Given the description of an element on the screen output the (x, y) to click on. 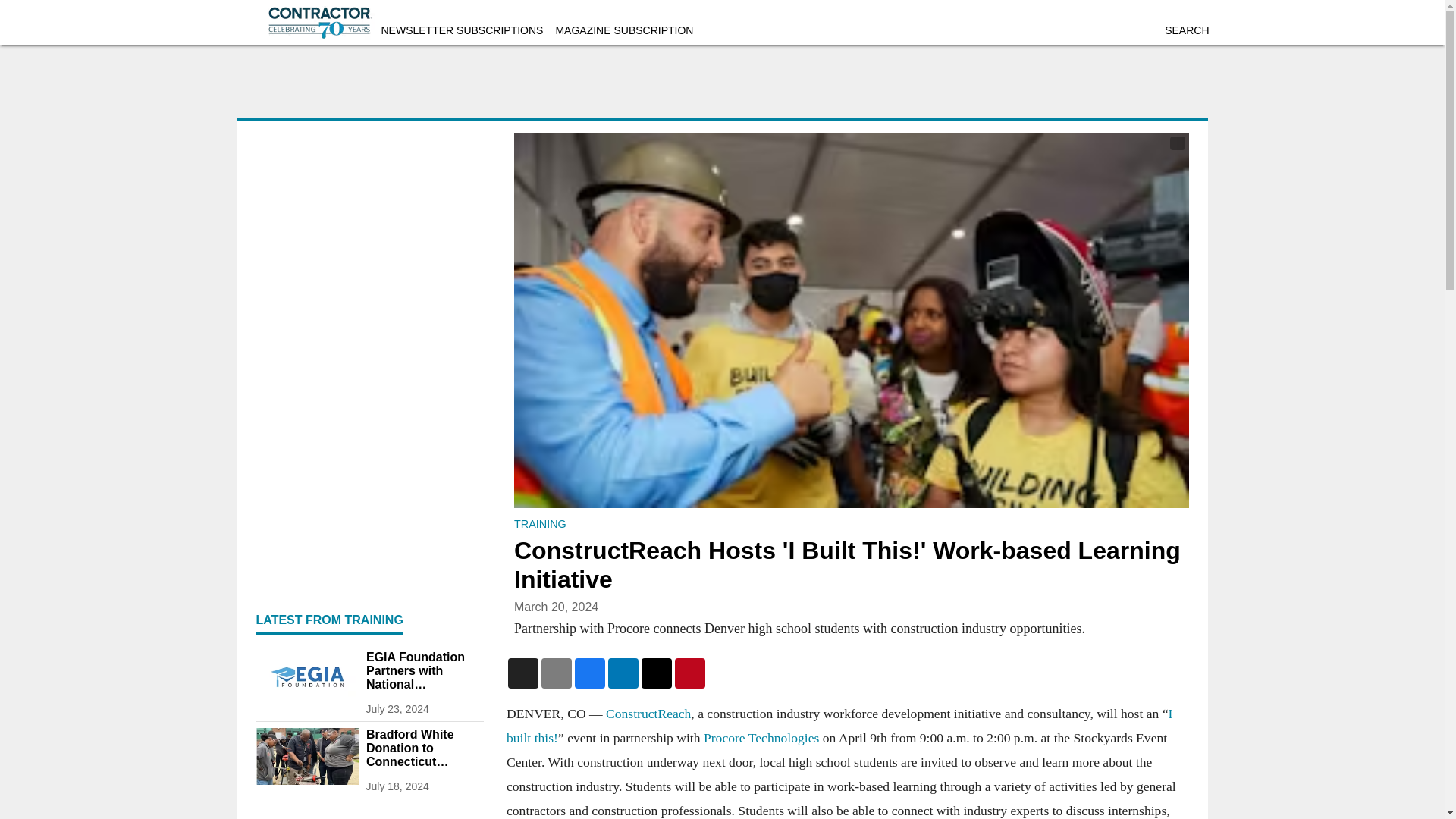
Procore Technologies (760, 737)
TRAINING (539, 523)
SEARCH (1186, 30)
I built this! (839, 725)
MAGAZINE SUBSCRIPTION (623, 30)
ConstructReach (647, 713)
NEWSLETTER SUBSCRIPTIONS (461, 30)
